Given the description of an element on the screen output the (x, y) to click on. 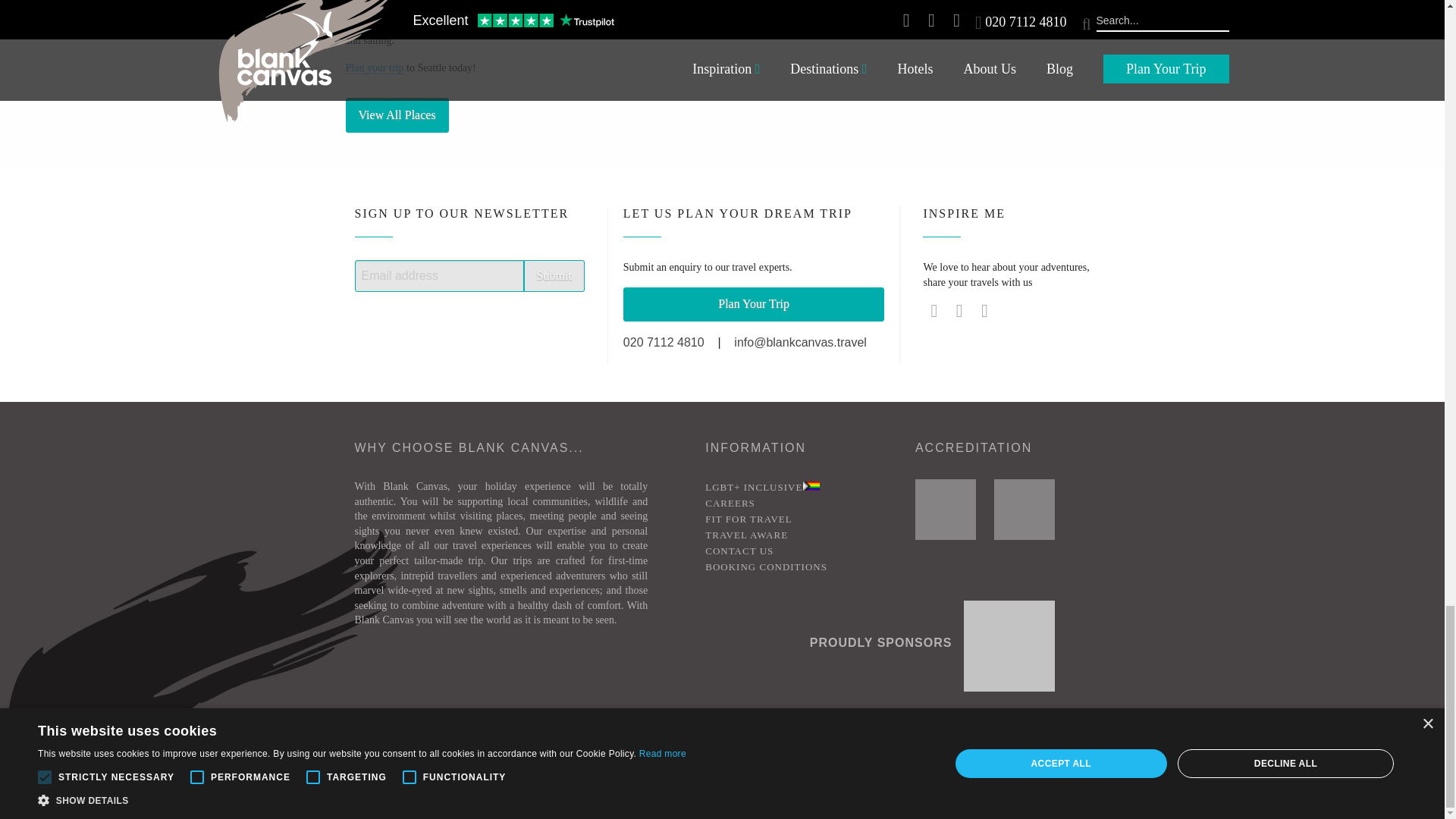
Submit (554, 275)
